Given the description of an element on the screen output the (x, y) to click on. 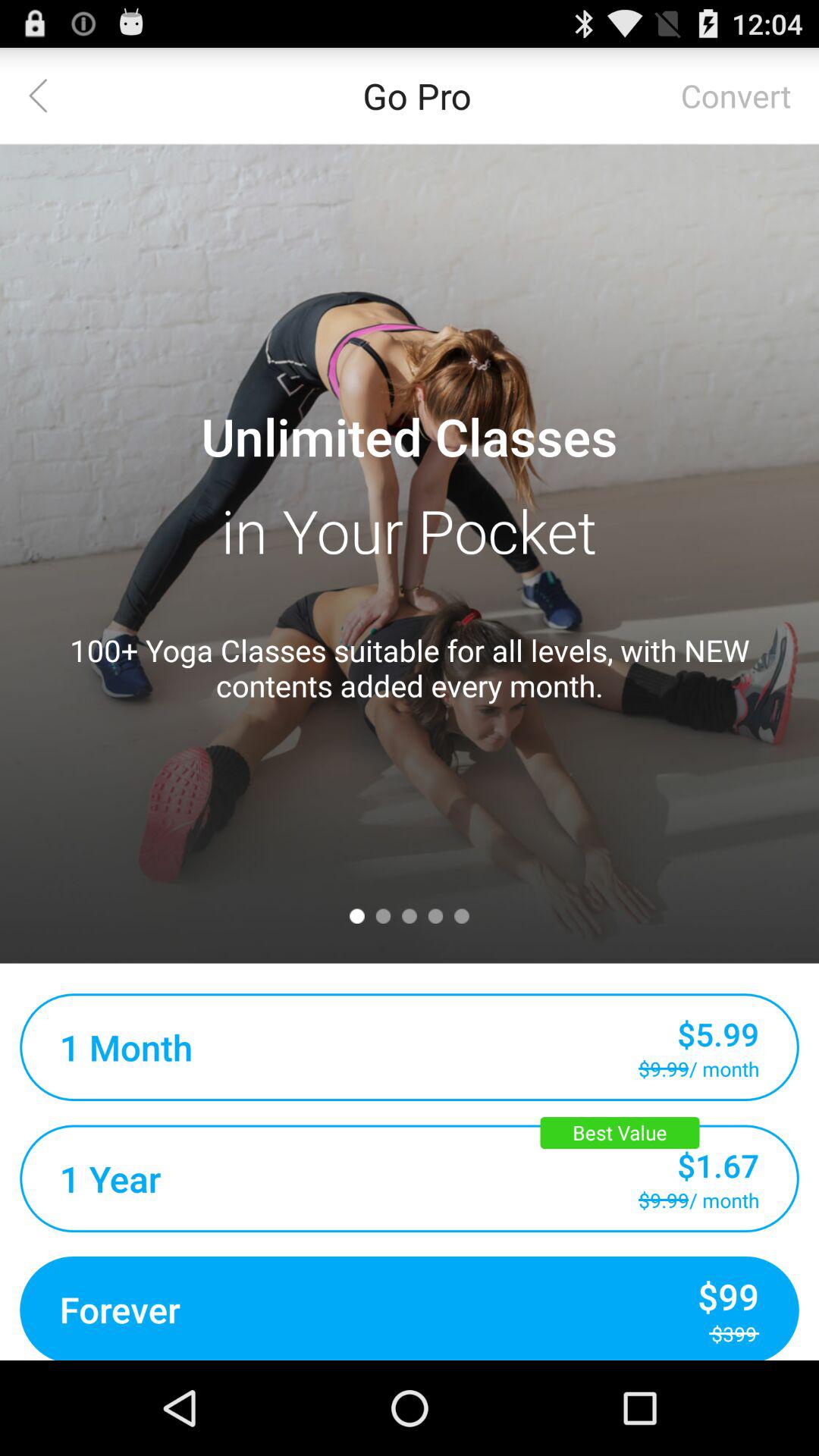
go back (47, 95)
